Given the description of an element on the screen output the (x, y) to click on. 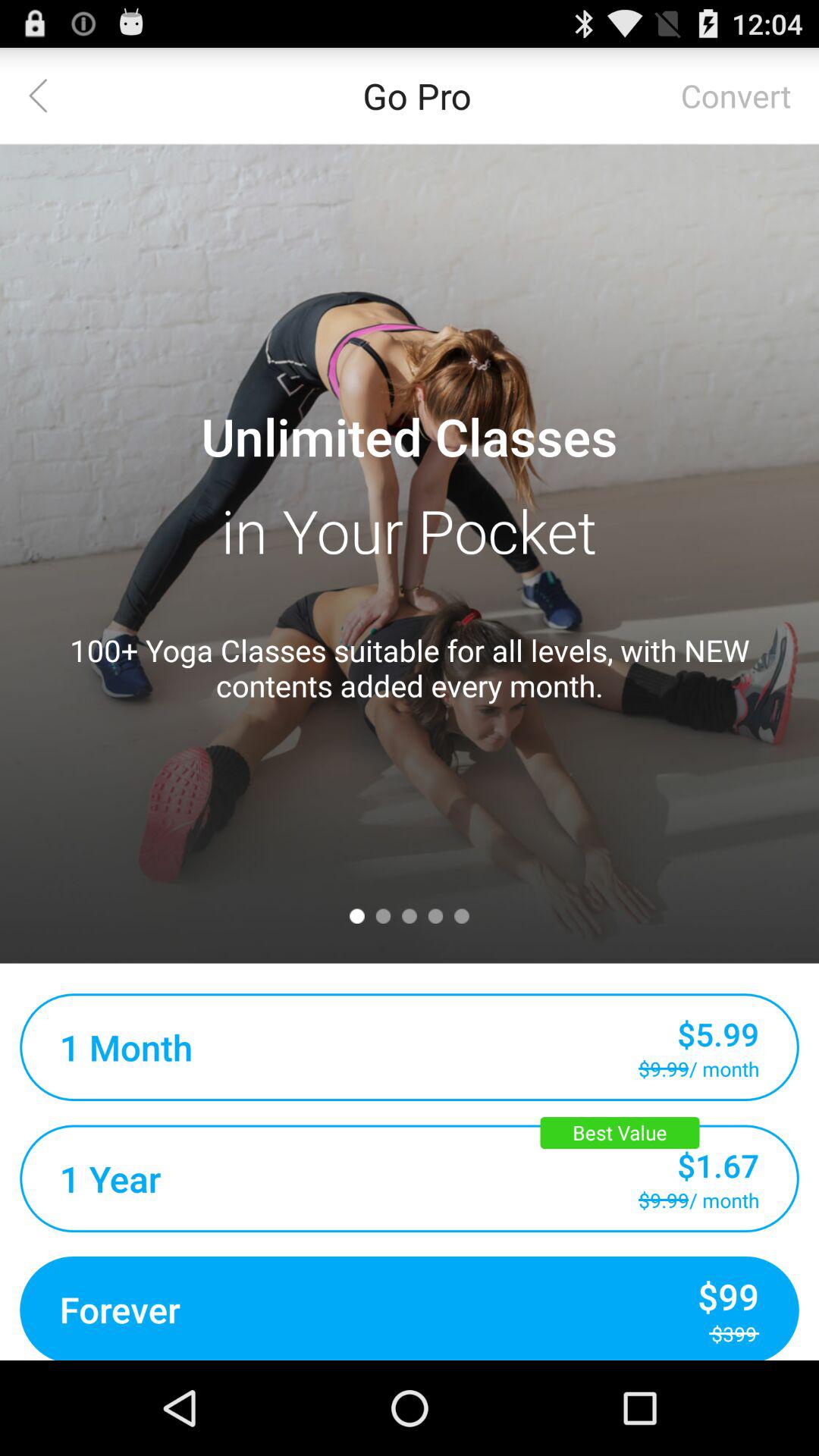
go back (47, 95)
